Given the description of an element on the screen output the (x, y) to click on. 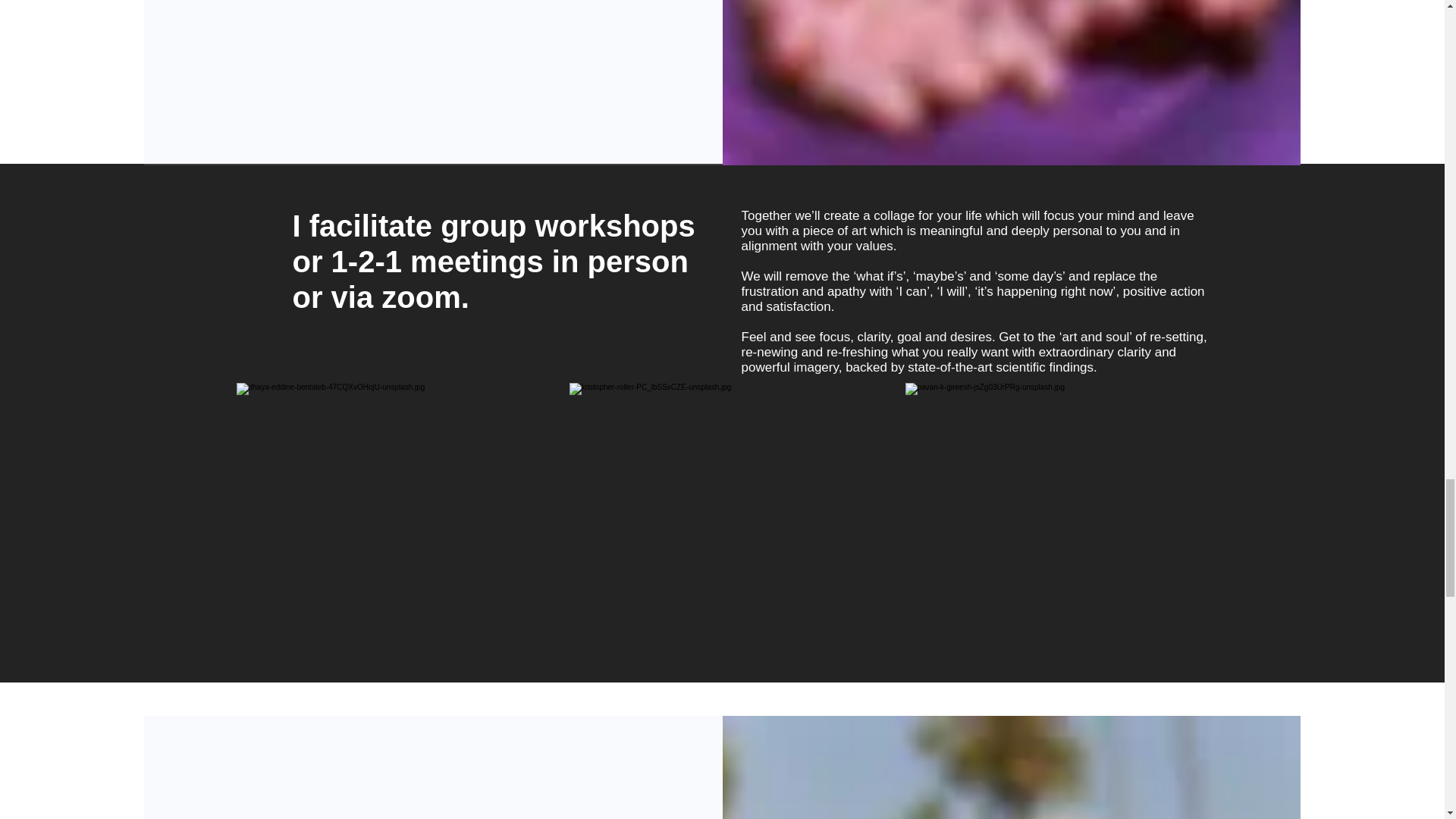
Untitled-2.jpg (728, 511)
Untitled-3.jpg (1065, 511)
Untitled-1.jpg (395, 511)
